Given the description of an element on the screen output the (x, y) to click on. 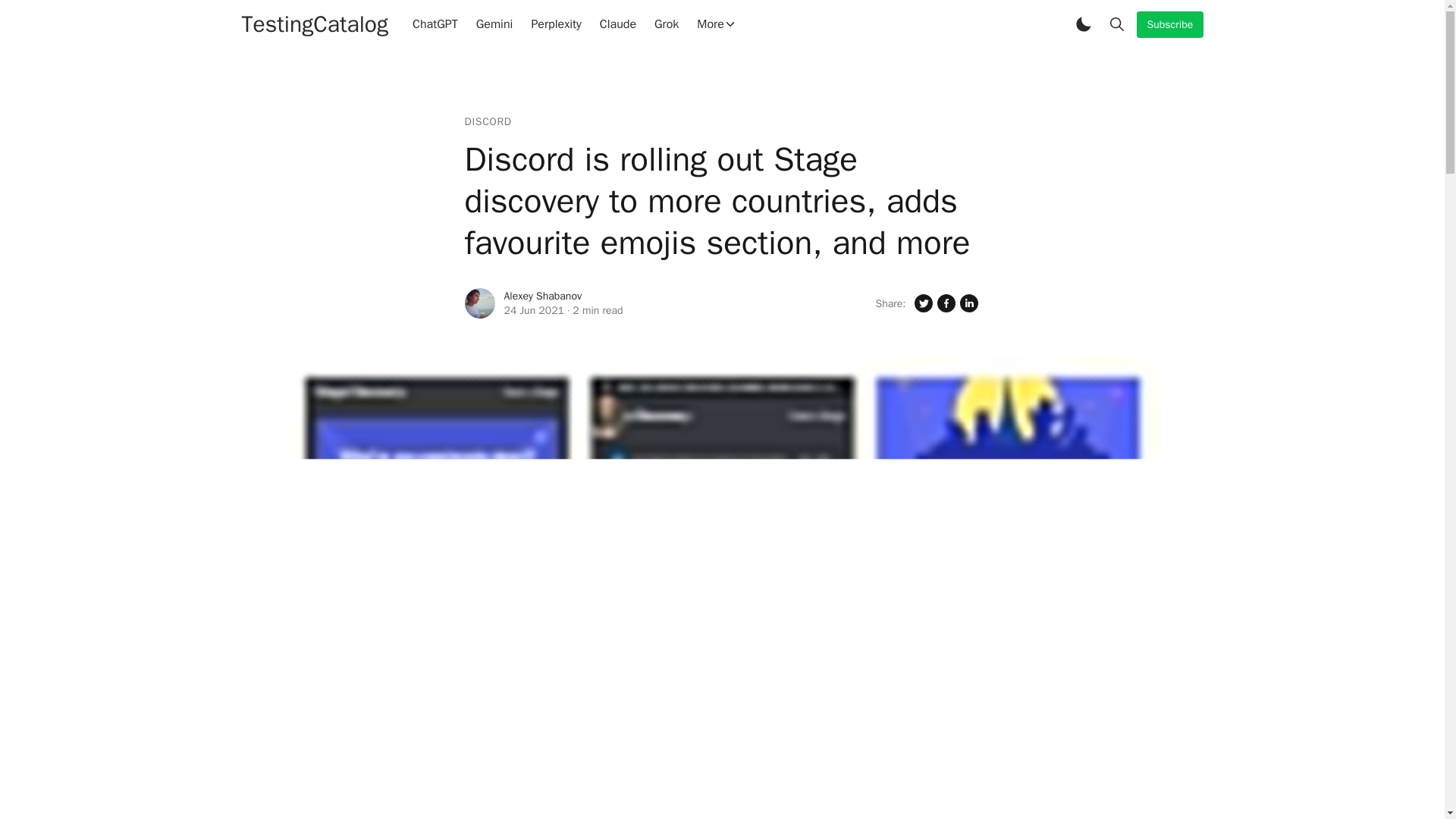
DISCORD (487, 121)
2 min read (597, 310)
Alexey Shabanov (541, 295)
Claude (618, 24)
Gemini (494, 24)
Subscribe (1169, 23)
Share on Twitter (922, 302)
More (715, 24)
Perplexity (555, 24)
Updated 19 Nov 2023 (533, 310)
Go to the profile of Alexey Shabanov (479, 303)
Share on Facebook (945, 302)
Share on Linkedin (967, 302)
Grok (666, 24)
ChatGPT (435, 24)
